Given the description of an element on the screen output the (x, y) to click on. 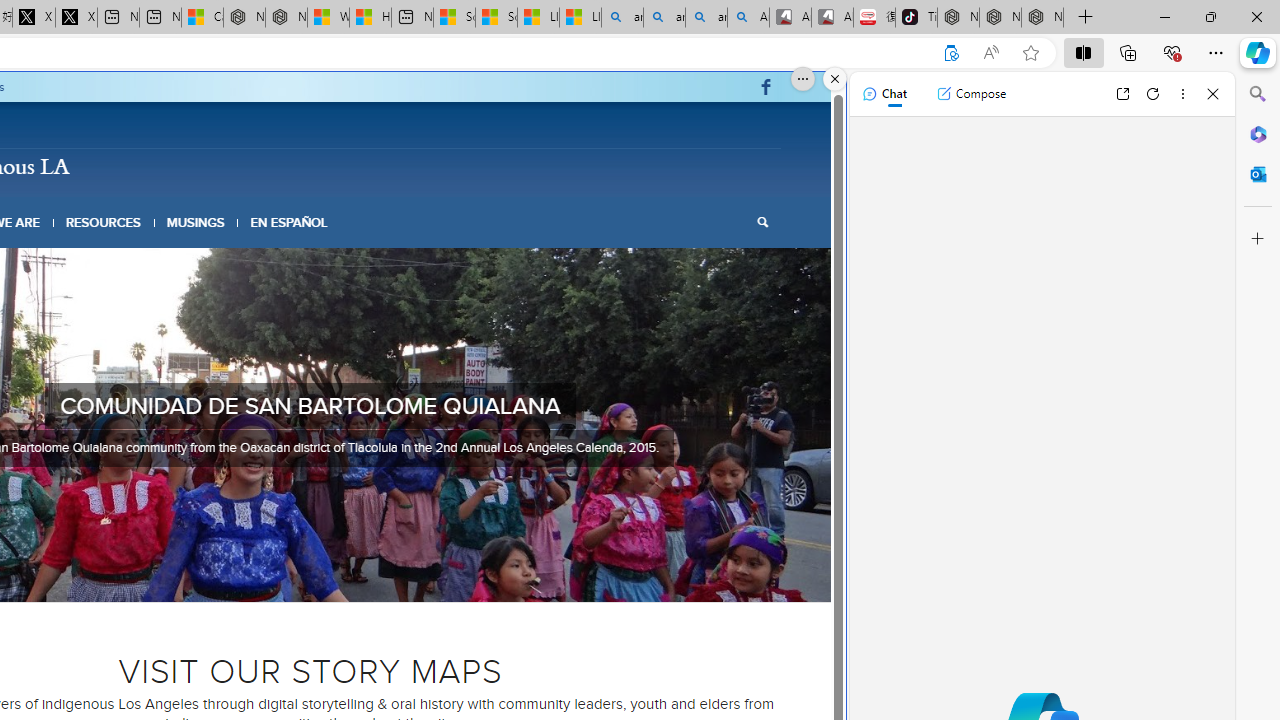
Nordace Siena Pro 15 Backpack (1000, 17)
MUSINGS (195, 222)
5 (318, 576)
Close split screen. (835, 79)
RESOURCES (102, 222)
